Given the description of an element on the screen output the (x, y) to click on. 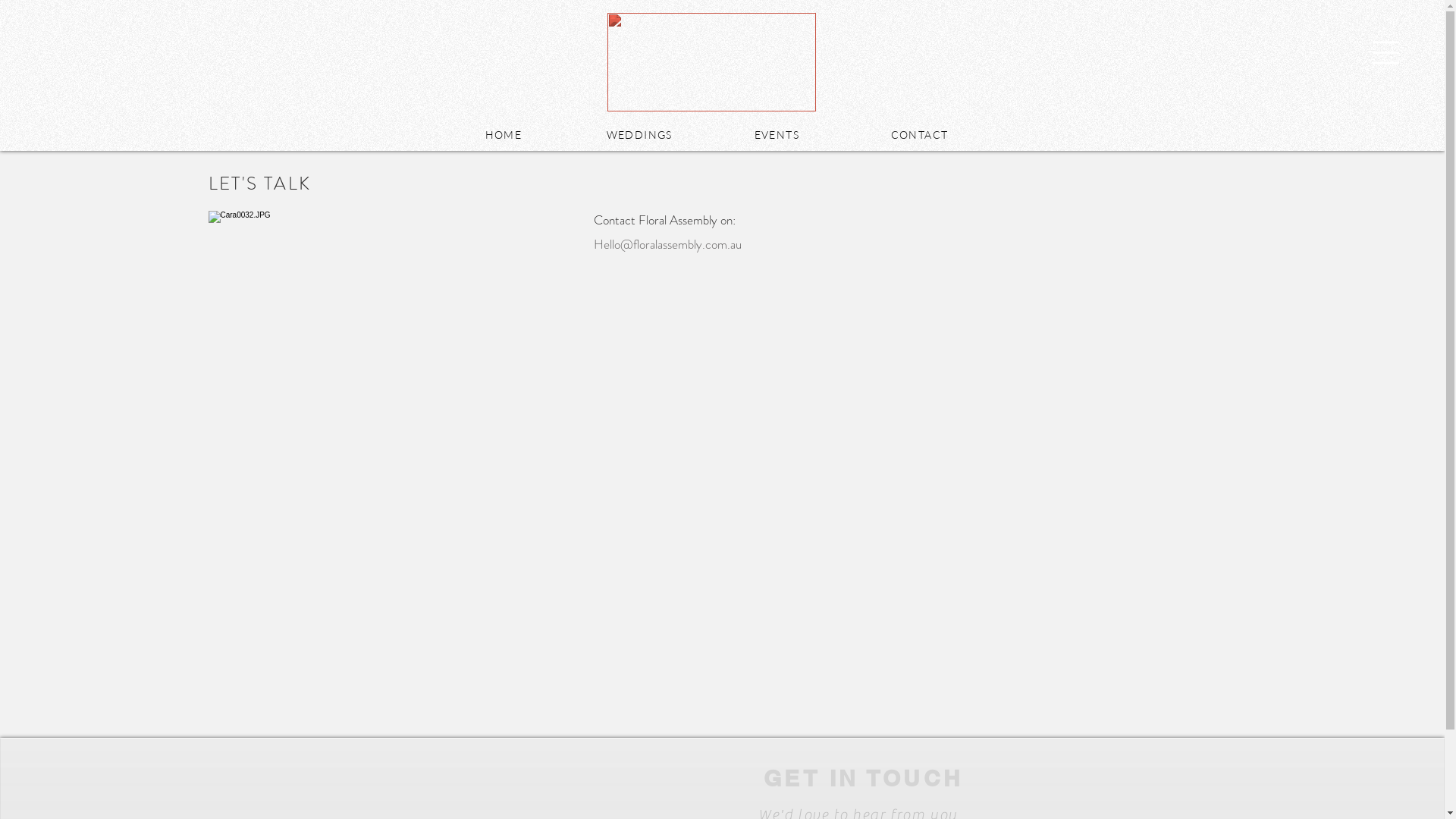
CONTACT Element type: text (918, 134)
HOME Element type: text (503, 134)
123 Form Builder & Payments Element type: hover (914, 503)
Hello@floralassembly.com.au Element type: text (666, 244)
WEDDINGS Element type: text (639, 134)
EVENTS Element type: text (775, 134)
